Given the description of an element on the screen output the (x, y) to click on. 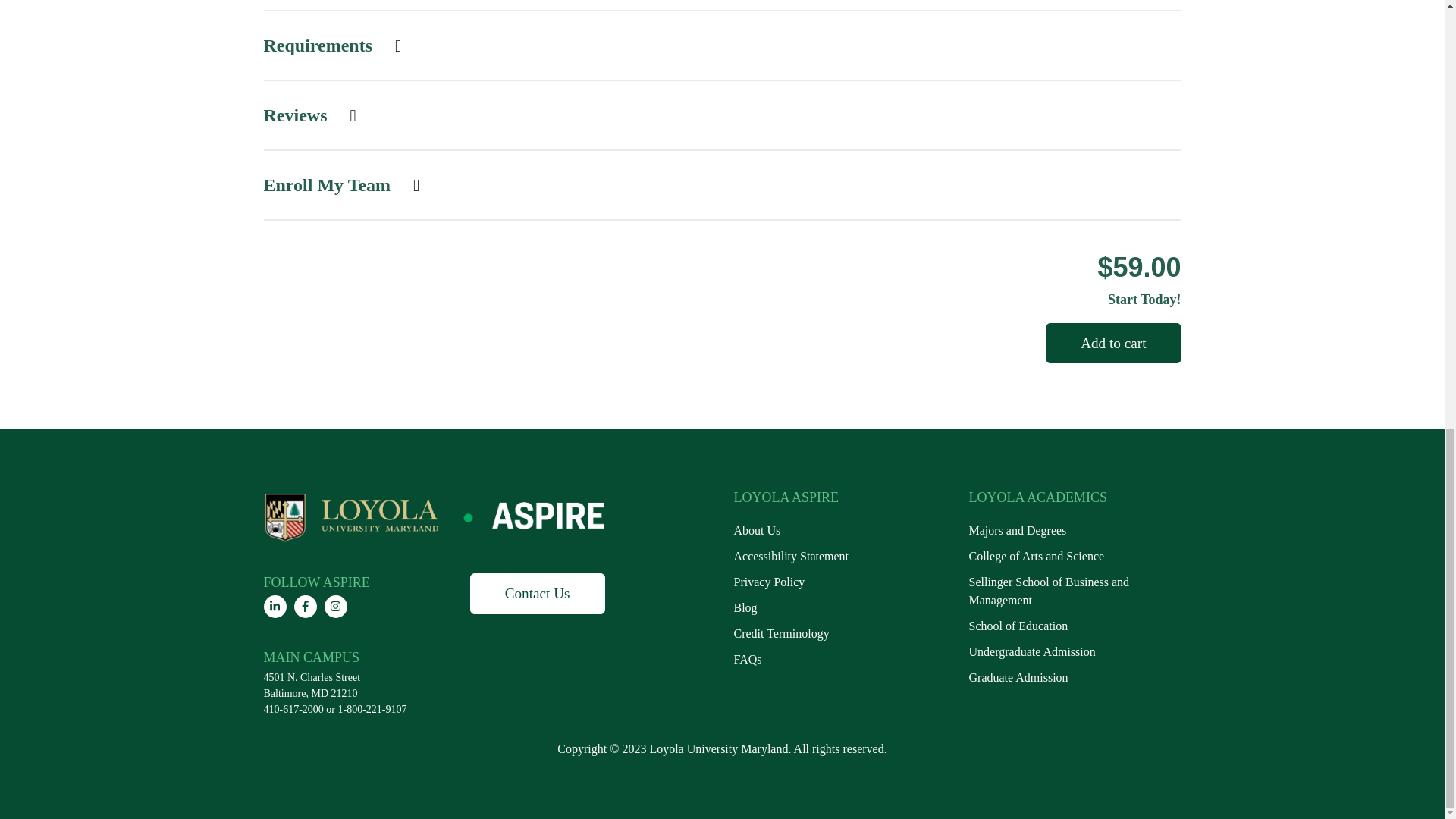
Link to Facebook (305, 606)
Link to LinkedIn (274, 606)
Link to Instagram (335, 606)
